Given the description of an element on the screen output the (x, y) to click on. 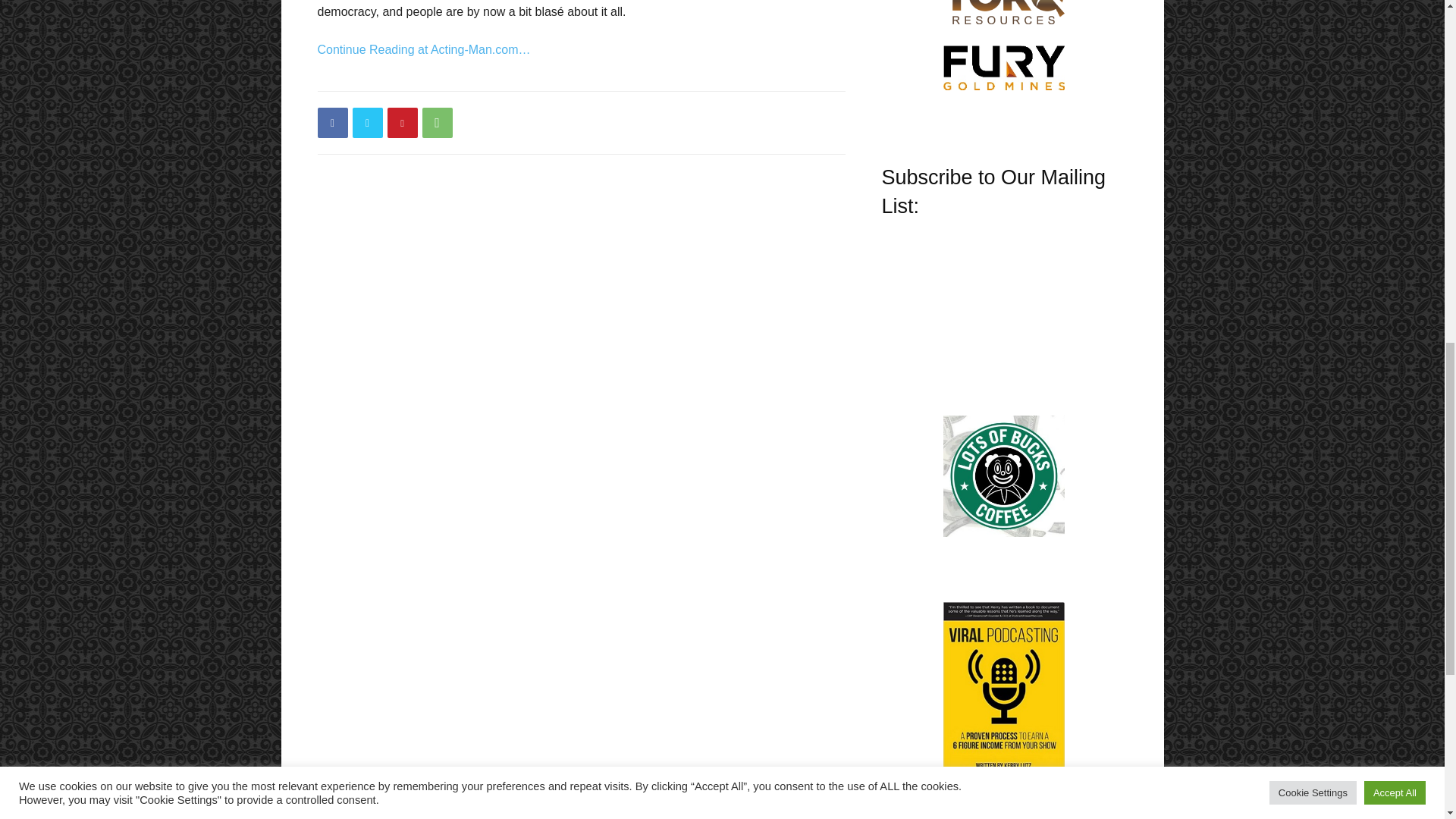
Twitter (366, 122)
Pinterest (401, 122)
WhatsApp (436, 122)
Facebook (332, 122)
